Given the description of an element on the screen output the (x, y) to click on. 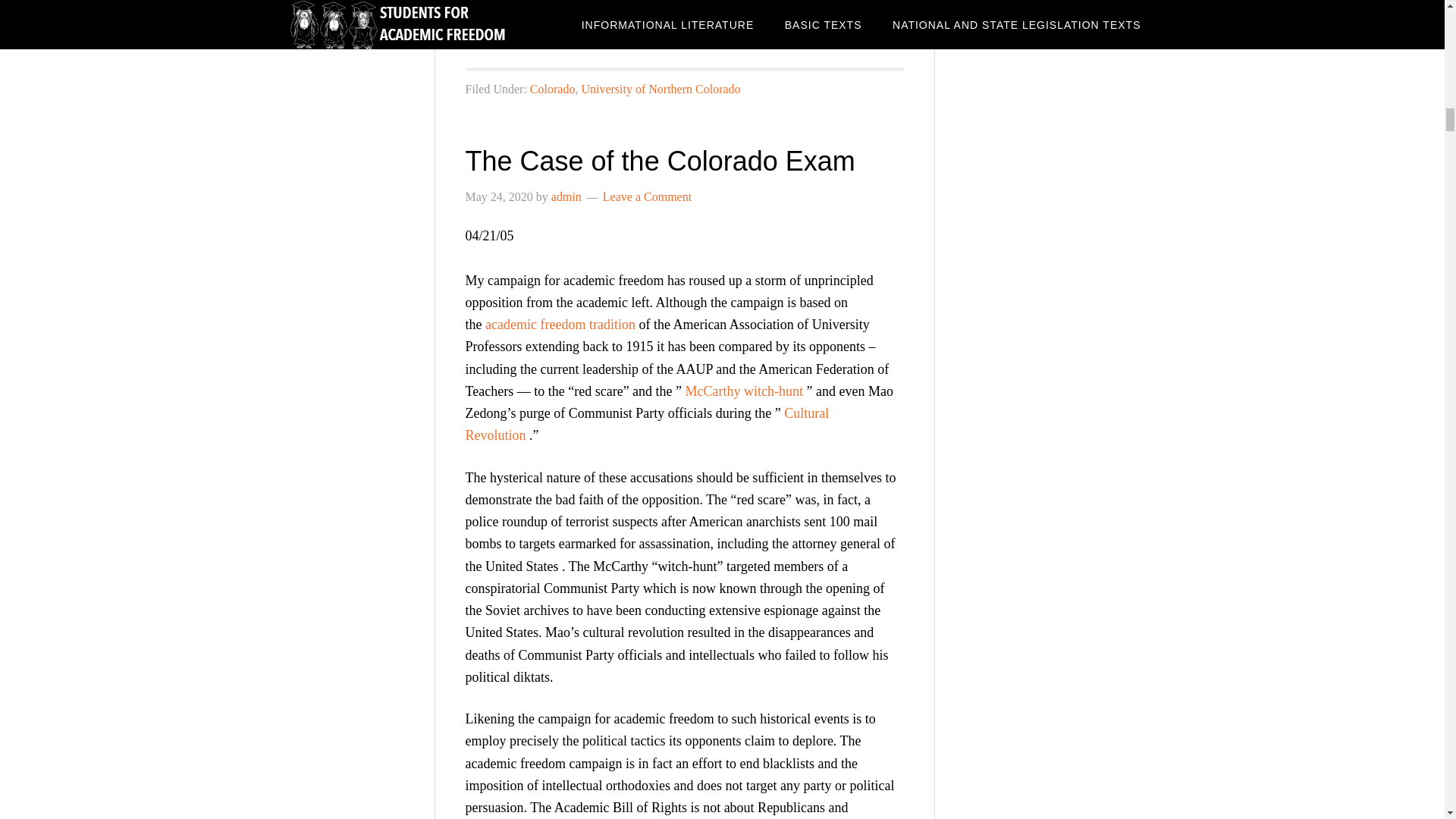
Leave a Comment (646, 196)
McCarthy witch-hunt (744, 391)
admin (565, 196)
final statement (671, 14)
Cultural (806, 412)
Revolution (495, 435)
academic freedom tradition (559, 324)
Colorado (552, 88)
The Case of the Colorado Exam (660, 160)
University of Northern Colorado (659, 88)
